Given the description of an element on the screen output the (x, y) to click on. 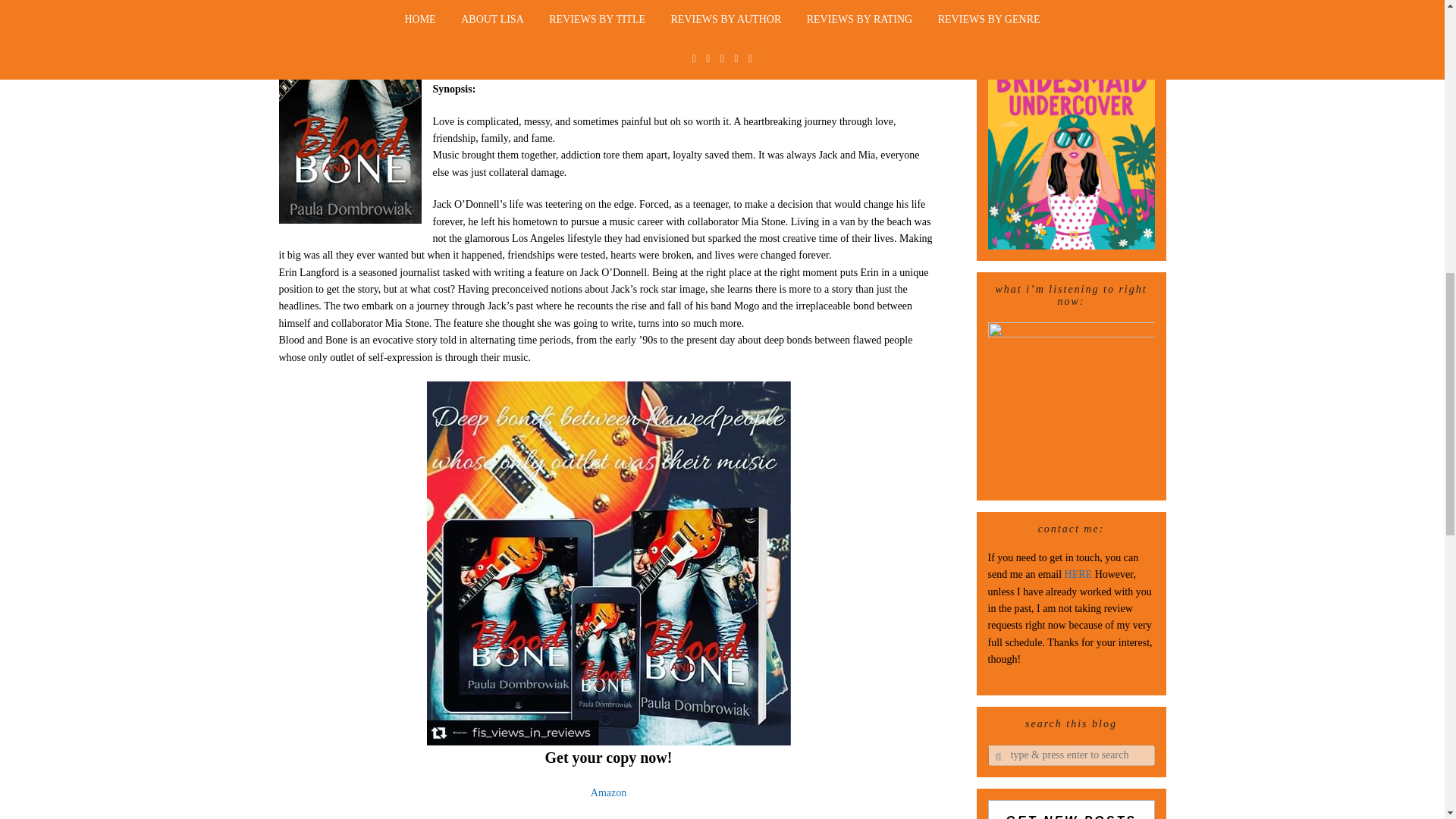
Paula Dombrowiak (560, 4)
HERE (1078, 573)
Goodreads (455, 71)
Adult Rock Star Romance (525, 38)
Amazon (608, 792)
